Given the description of an element on the screen output the (x, y) to click on. 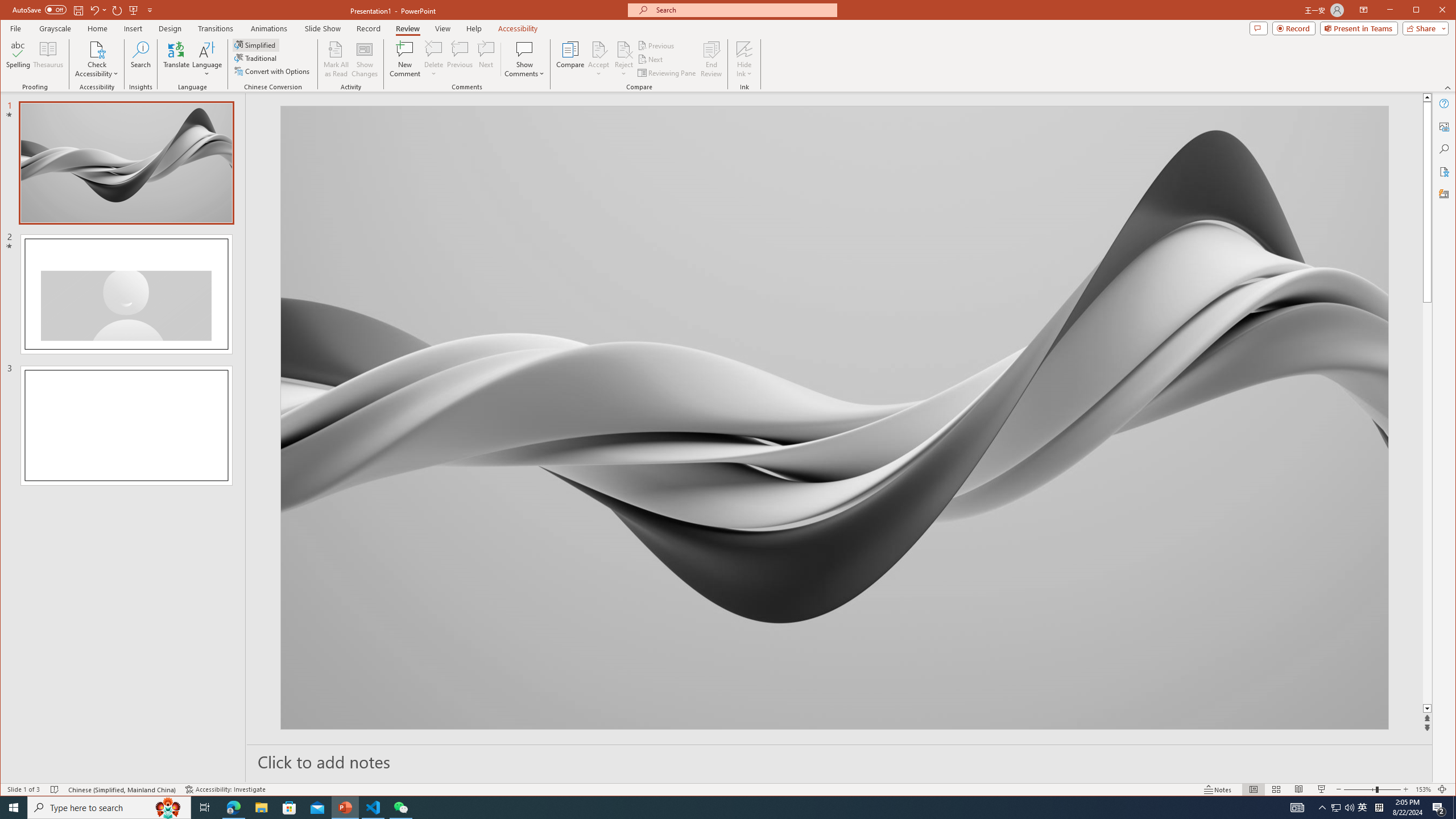
End Review (710, 59)
